Given the description of an element on the screen output the (x, y) to click on. 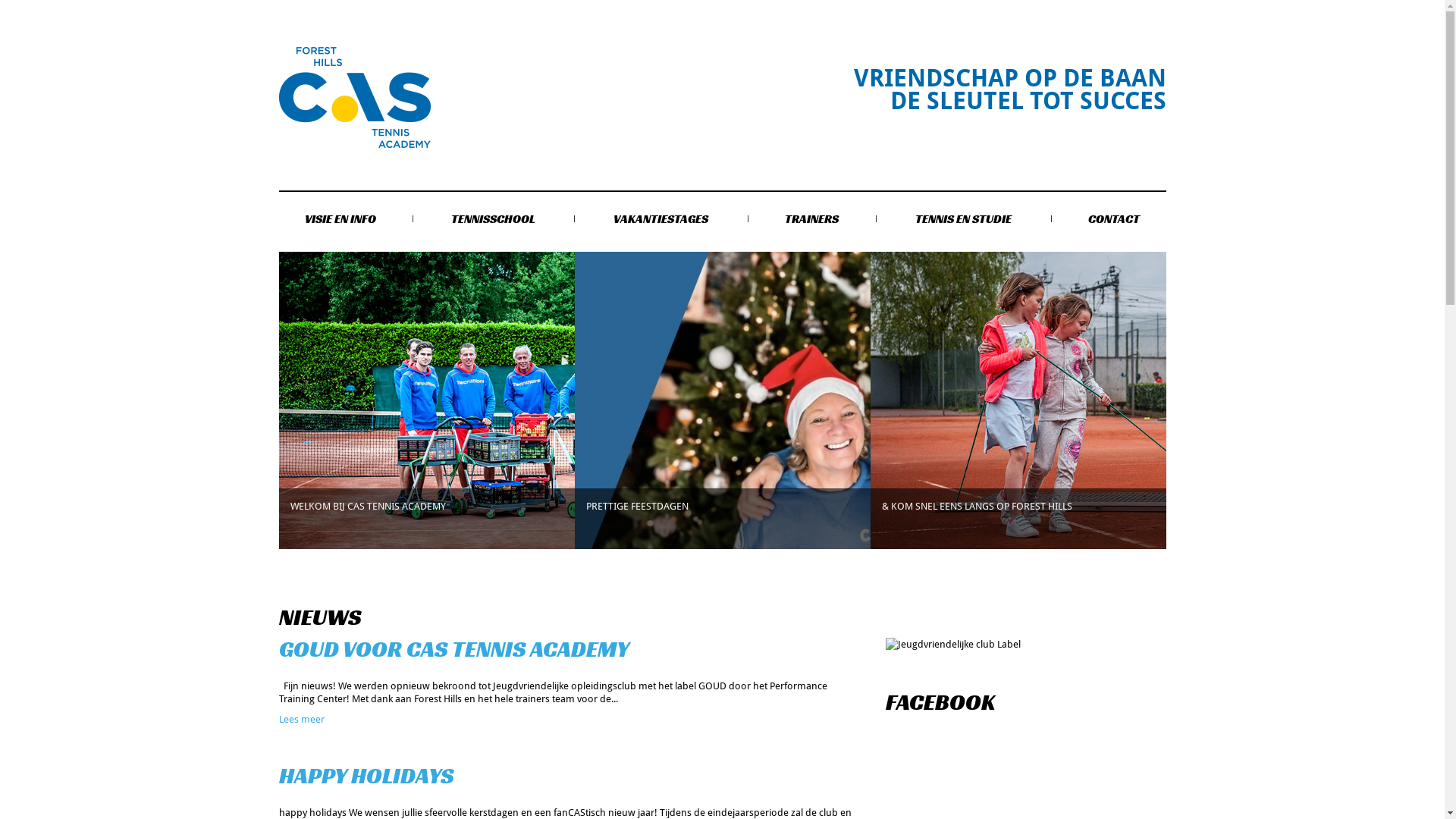
VAKANTIESTAGES Element type: text (661, 219)
TENNISSCHOOL Element type: text (493, 219)
Lees meer Element type: text (301, 718)
GOUD VOOR CAS TENNIS ACADEMY Element type: text (454, 648)
HAPPY HOLIDAYS Element type: text (366, 775)
VISIE EN INFO Element type: text (340, 219)
CONTACT Element type: text (1114, 219)
TRAINERS Element type: text (812, 219)
label jeugdvriendelijke club Element type: hover (952, 643)
TENNIS EN STUDIE Element type: text (963, 219)
Creates champions Element type: hover (354, 96)
